Given the description of an element on the screen output the (x, y) to click on. 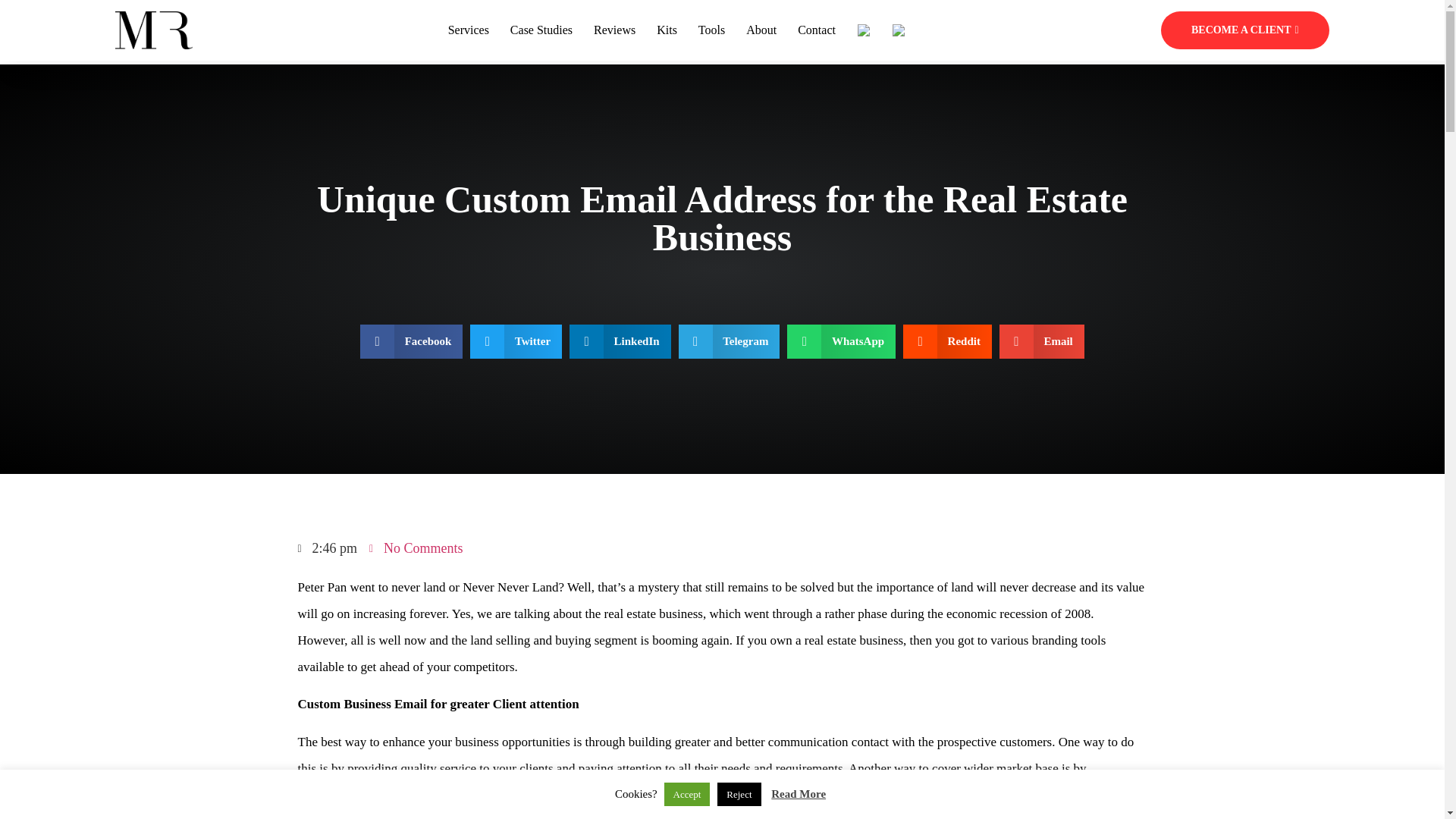
Services (468, 30)
Case Studies (541, 30)
Reviews (614, 30)
